Given the description of an element on the screen output the (x, y) to click on. 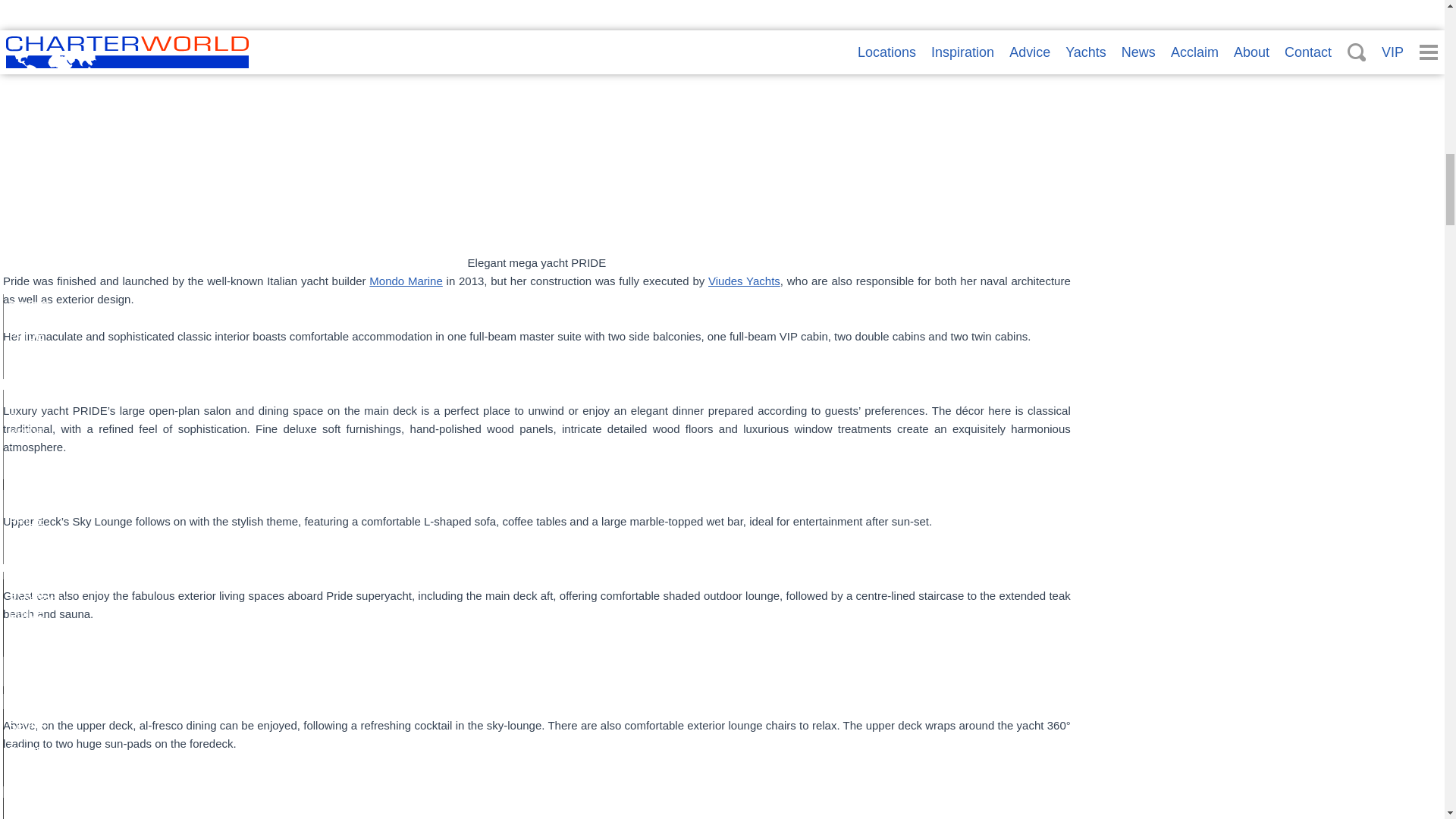
Viudes Yachts (743, 280)
Mondo Marine (405, 280)
Elegant mega yacht PRIDE (536, 124)
